Given the description of an element on the screen output the (x, y) to click on. 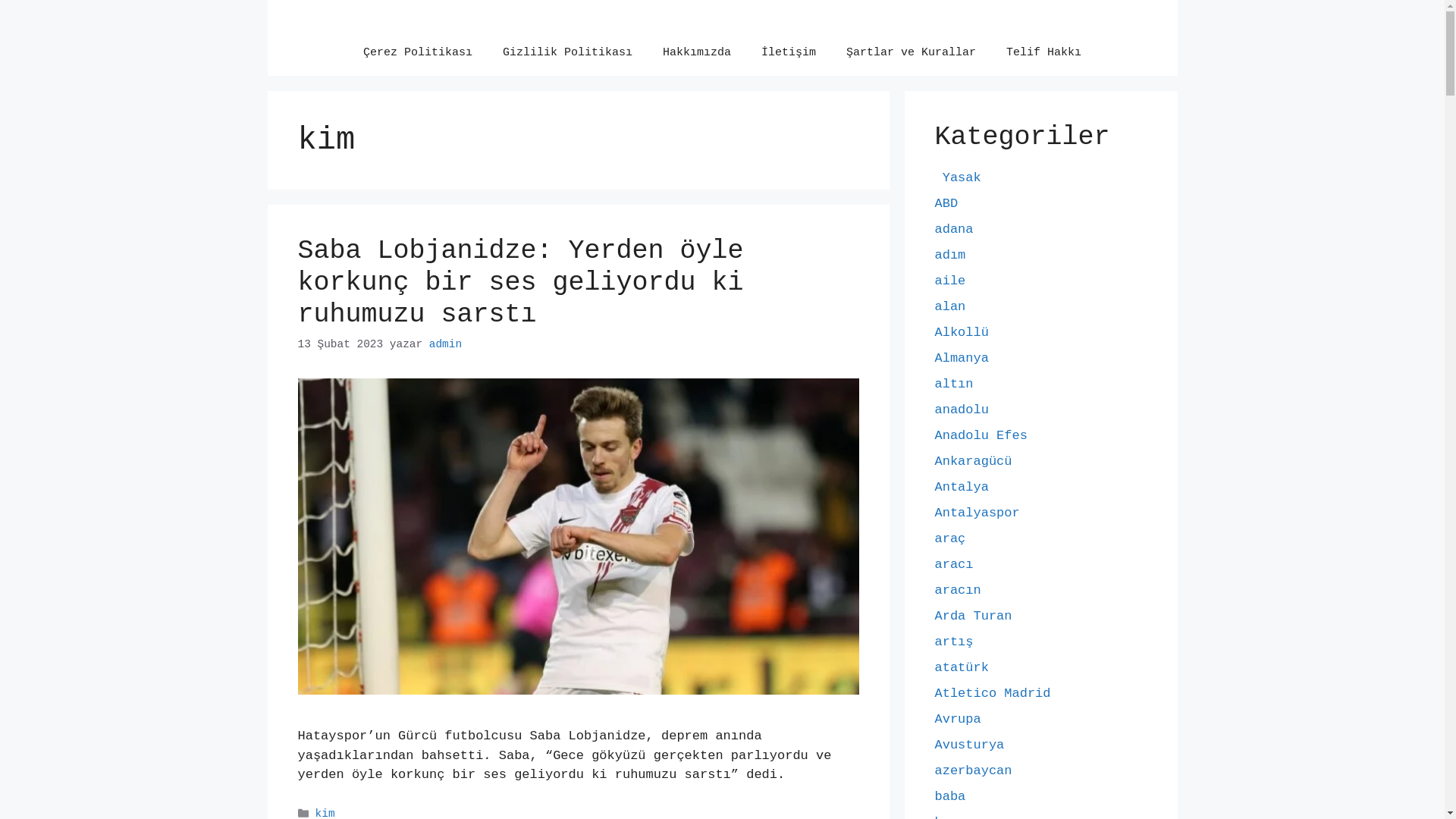
Avrupa Element type: text (957, 719)
adana Element type: text (953, 229)
Arda Turan Element type: text (972, 615)
Antalya Element type: text (961, 487)
Antalyaspor Element type: text (976, 512)
aile Element type: text (949, 280)
 Yasak Element type: text (957, 177)
Almanya Element type: text (961, 358)
alan Element type: text (949, 306)
baba Element type: text (949, 796)
anadolu Element type: text (961, 409)
Atletico Madrid Element type: text (992, 693)
admin Element type: text (445, 344)
Avusturya Element type: text (969, 744)
azerbaycan Element type: text (972, 770)
ABD Element type: text (945, 203)
Anadolu Efes Element type: text (980, 435)
